Given the description of an element on the screen output the (x, y) to click on. 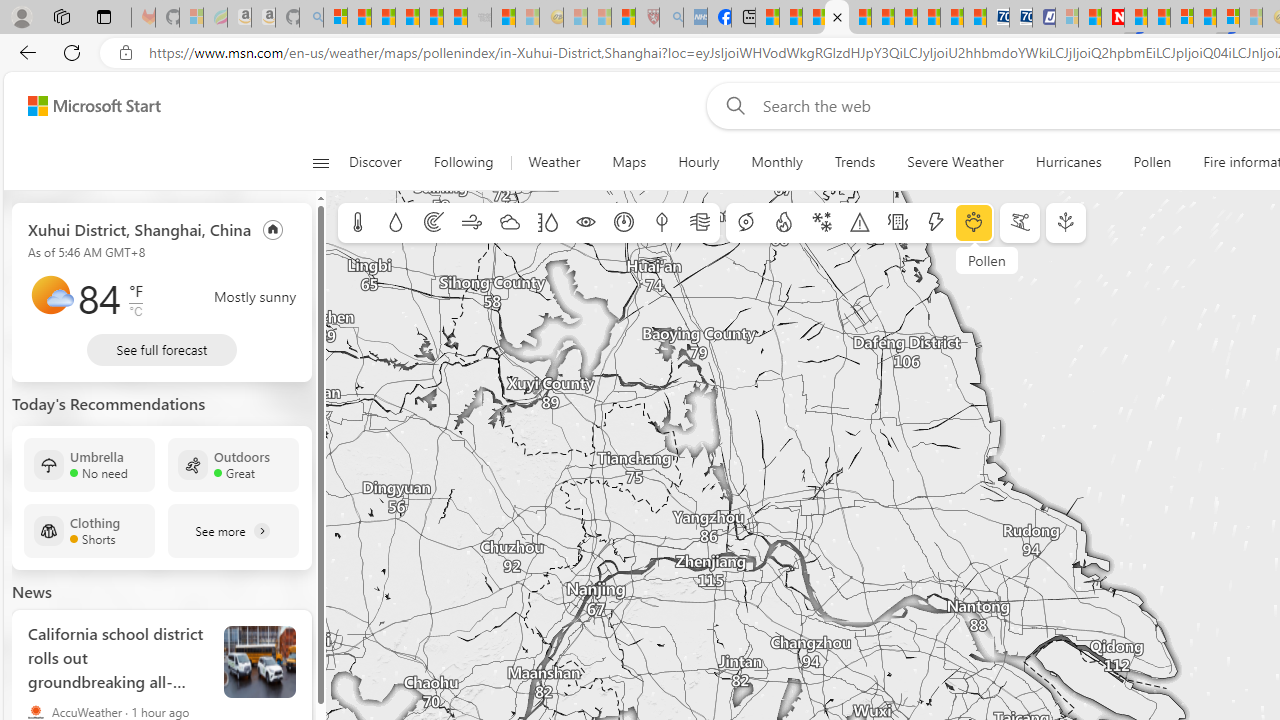
Dew point (661, 223)
Hurricanes (1068, 162)
Trends (854, 162)
Winter weather (821, 223)
World - MSN (813, 17)
Humidity (547, 223)
